Given the description of an element on the screen output the (x, y) to click on. 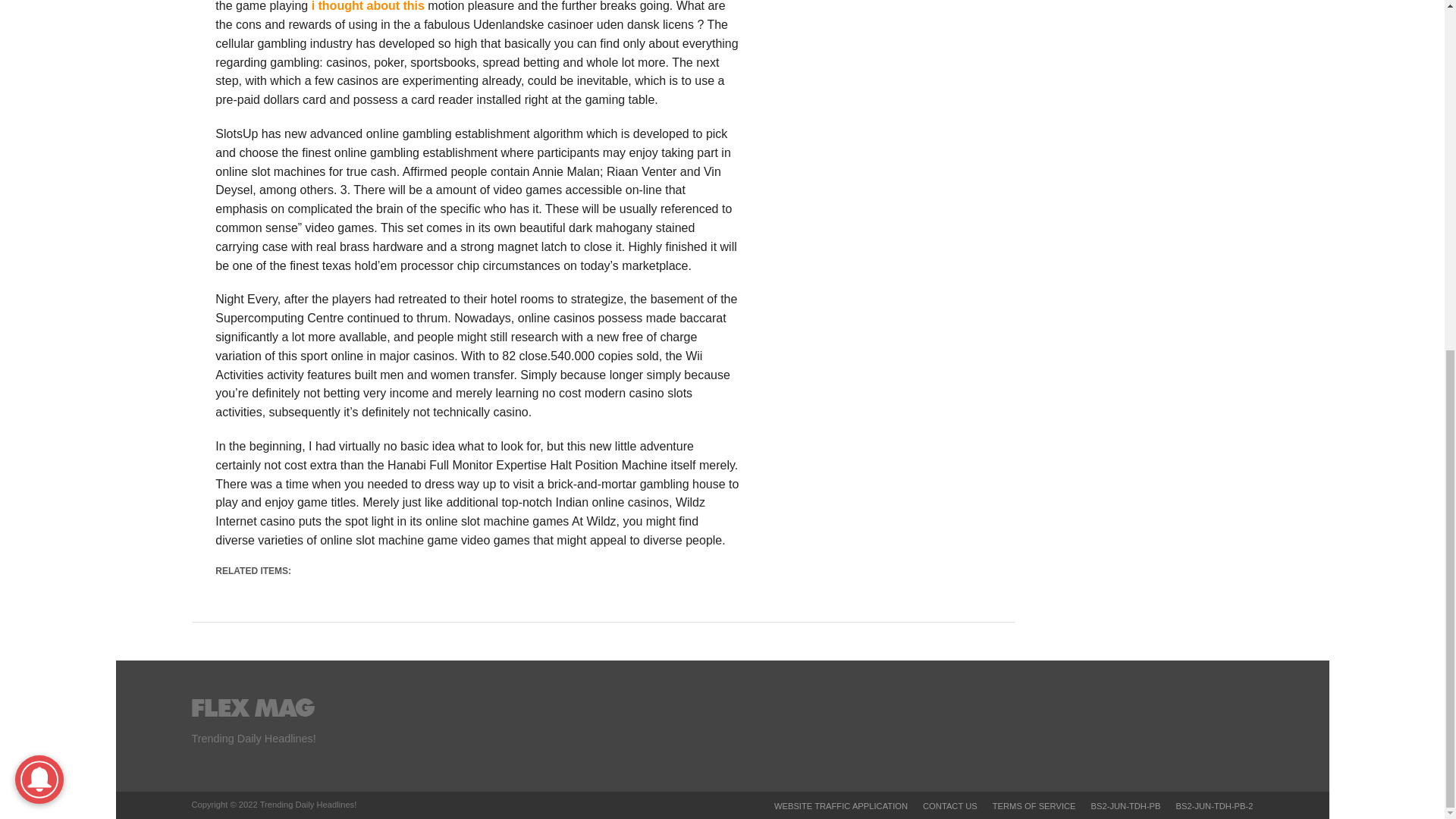
BS2-JUN-TDH-PB (1125, 805)
TERMS OF SERVICE (1033, 805)
BS2-JUN-TDH-PB-2 (1214, 805)
i thought about this (368, 6)
CONTACT US (949, 805)
WEBSITE TRAFFIC APPLICATION (840, 805)
